Given the description of an element on the screen output the (x, y) to click on. 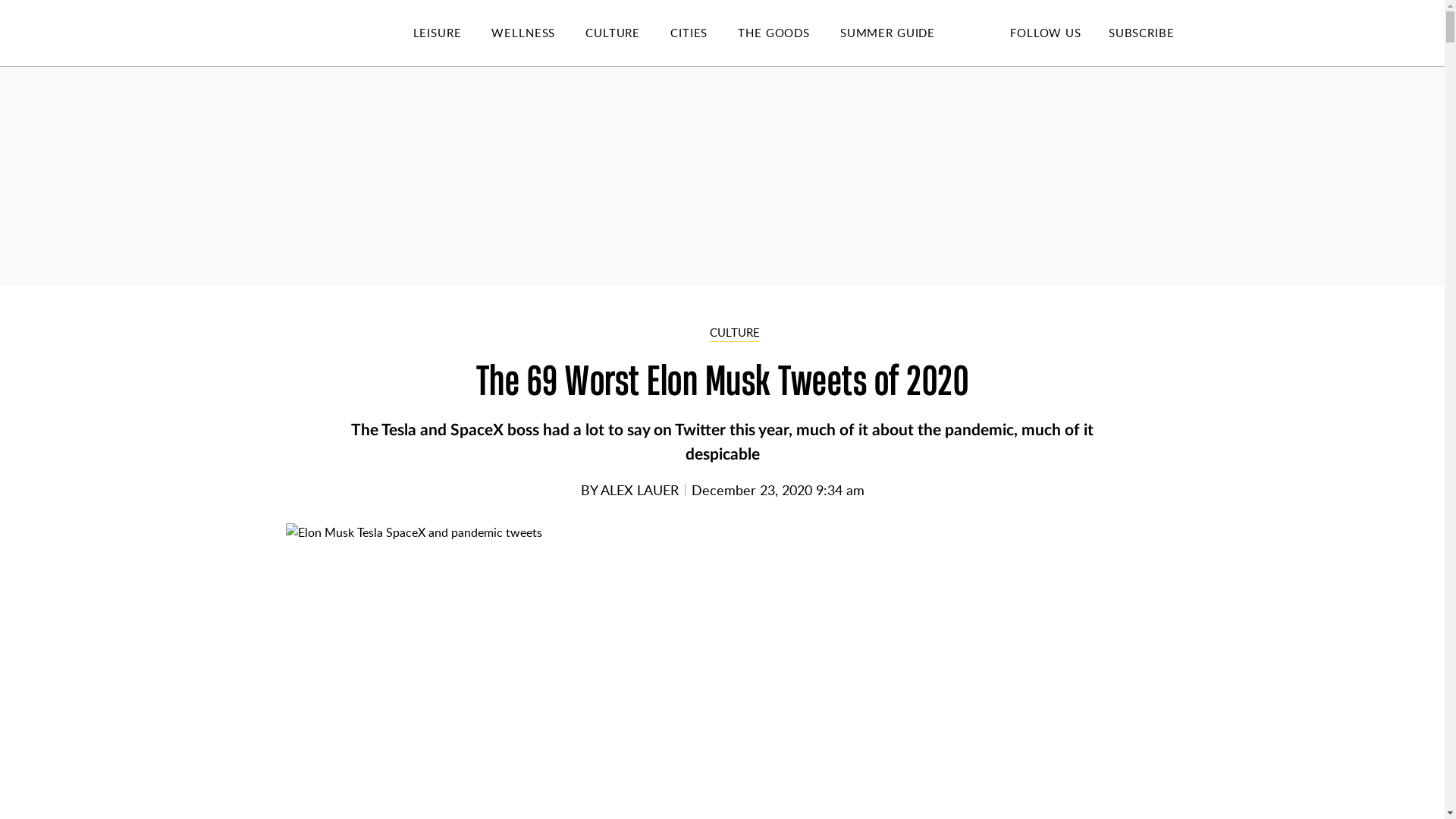
THE GOODS (789, 32)
CITIES (703, 32)
WELLNESS (538, 32)
SUBSCRIBE (1141, 31)
SUMMER GUIDE (902, 32)
LEISURE (452, 32)
FOLLOW US (1045, 32)
CULTURE (627, 32)
